Given the description of an element on the screen output the (x, y) to click on. 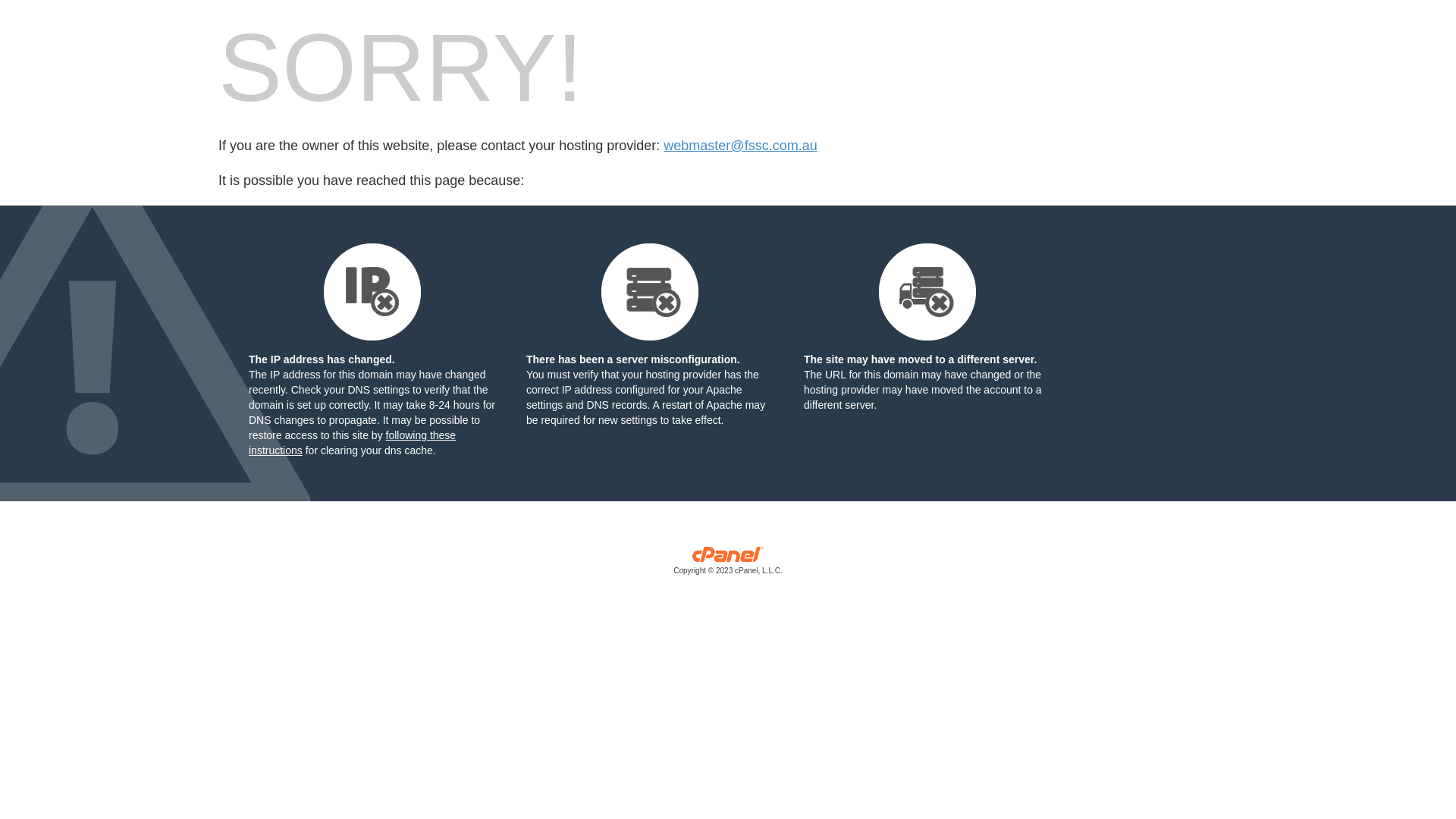
following these instructions Element type: text (351, 442)
webmaster@fssc.com.au Element type: text (739, 145)
